Given the description of an element on the screen output the (x, y) to click on. 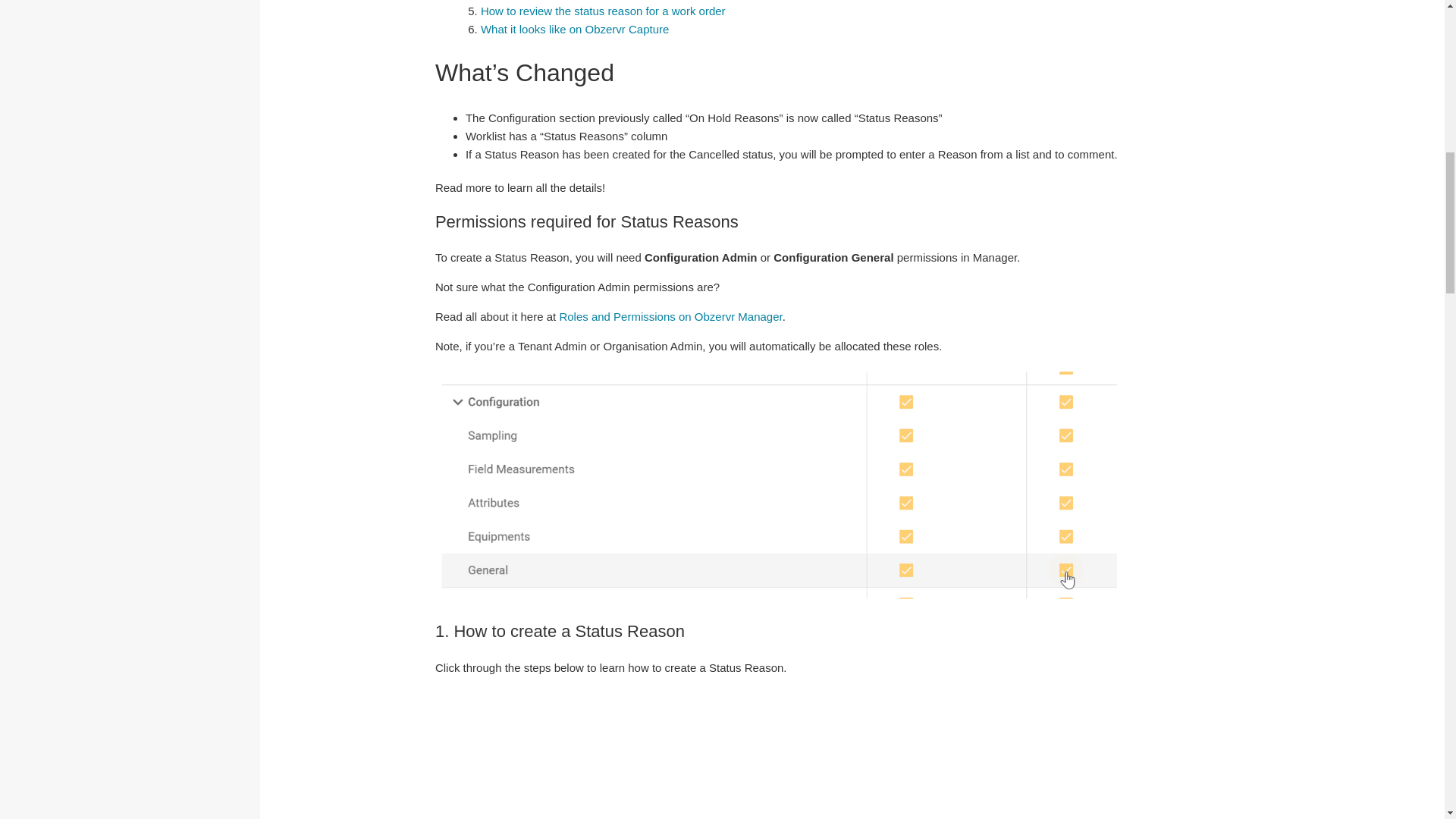
How to review the status reason for a work order (602, 10)
What it looks like on Obzervr Capture (574, 29)
Roles and Permissions on Obzervr Manager (670, 316)
